Given the description of an element on the screen output the (x, y) to click on. 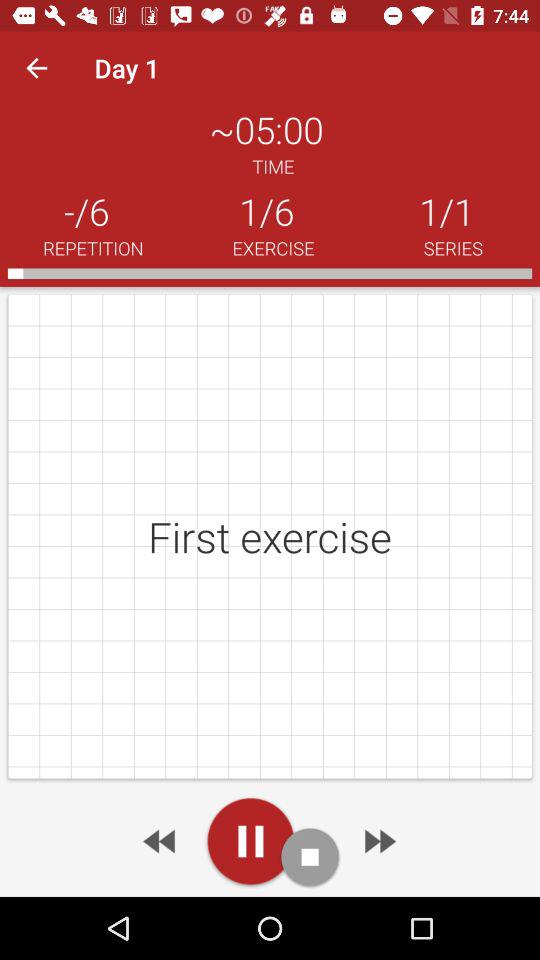
switch autoplay option (250, 841)
